Given the description of an element on the screen output the (x, y) to click on. 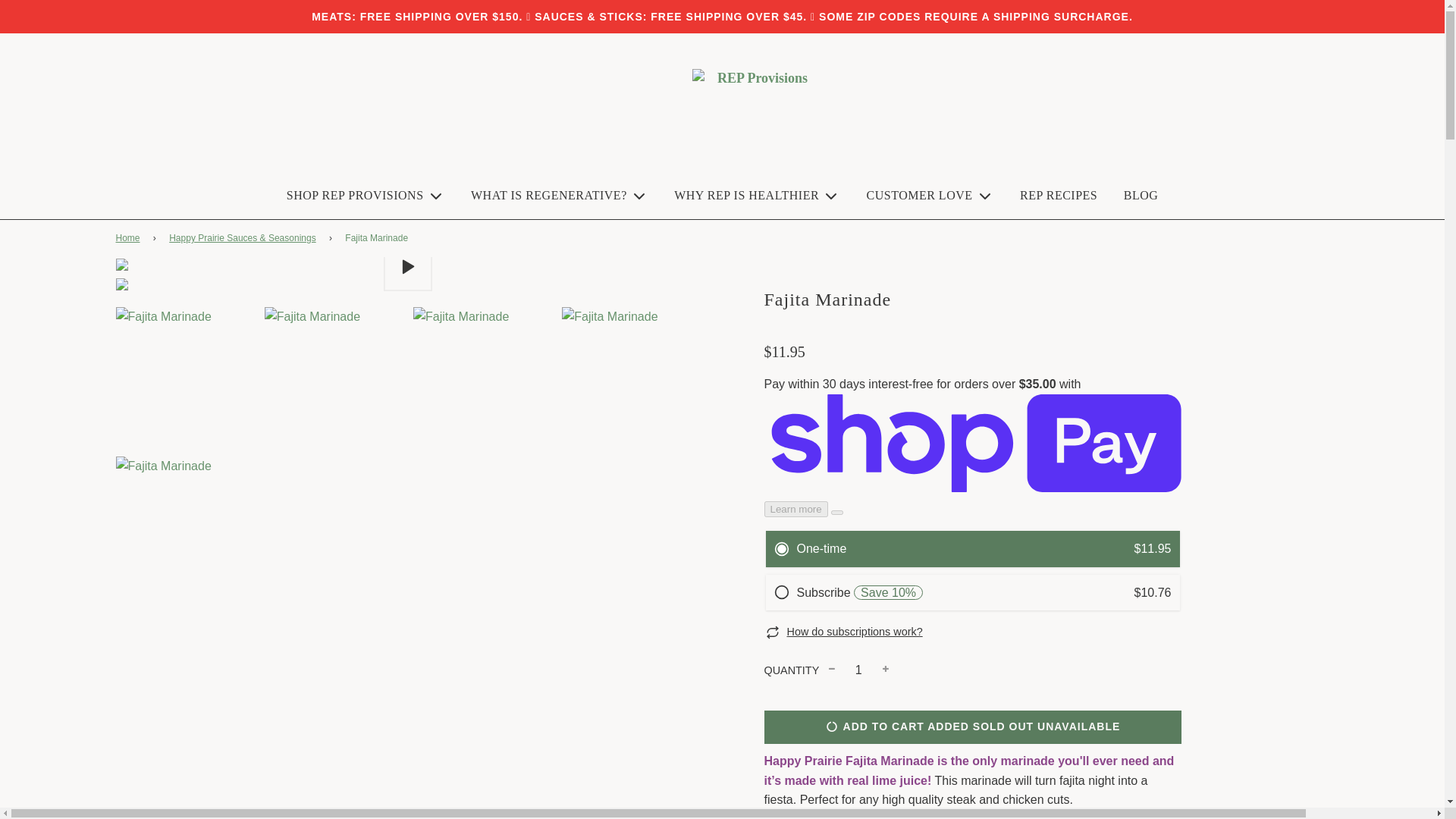
Back to the frontpage (129, 237)
1 (859, 669)
